Given the description of an element on the screen output the (x, y) to click on. 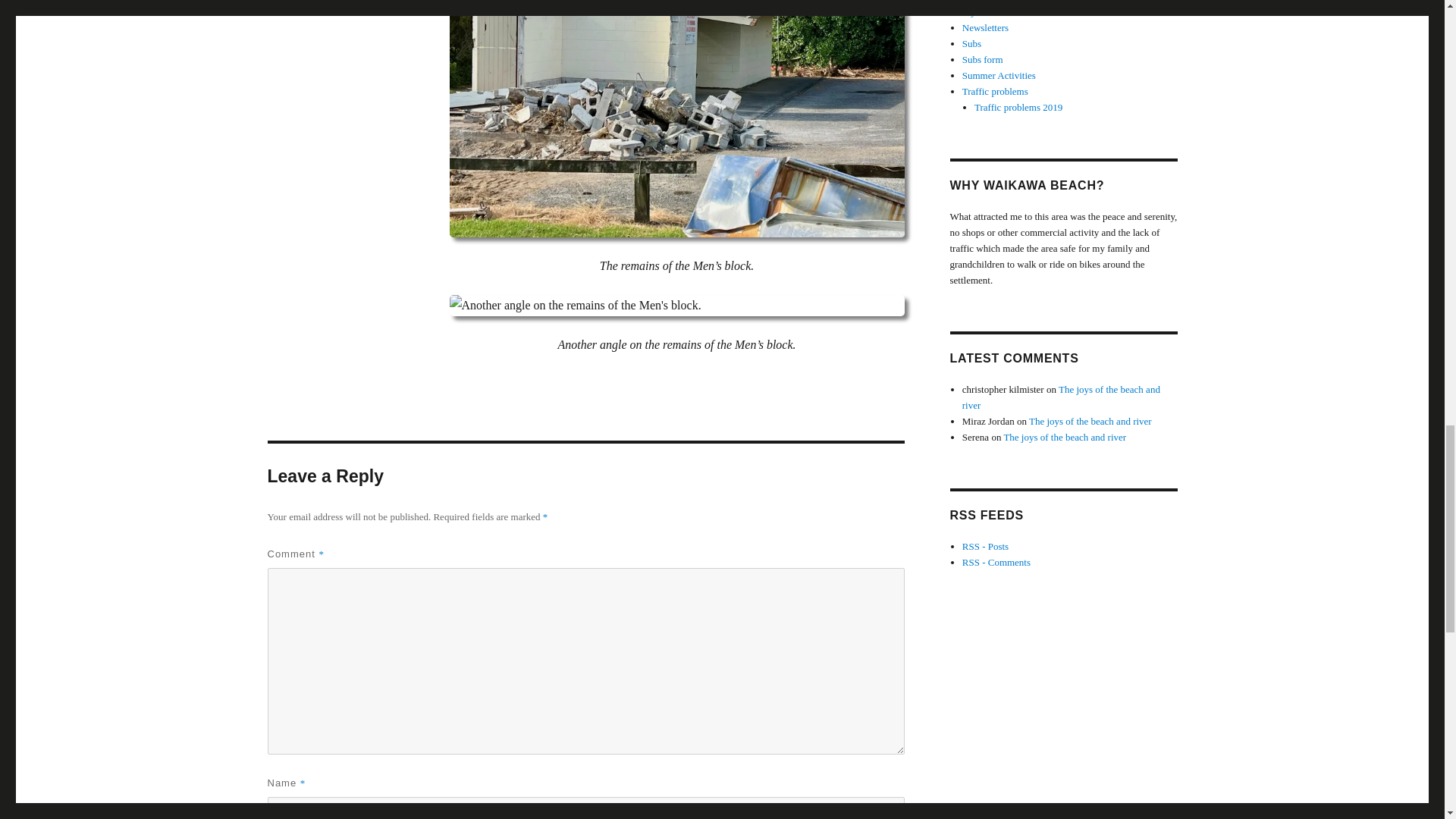
Subscribe to comments (996, 562)
Subscribe to posts (985, 546)
